Given the description of an element on the screen output the (x, y) to click on. 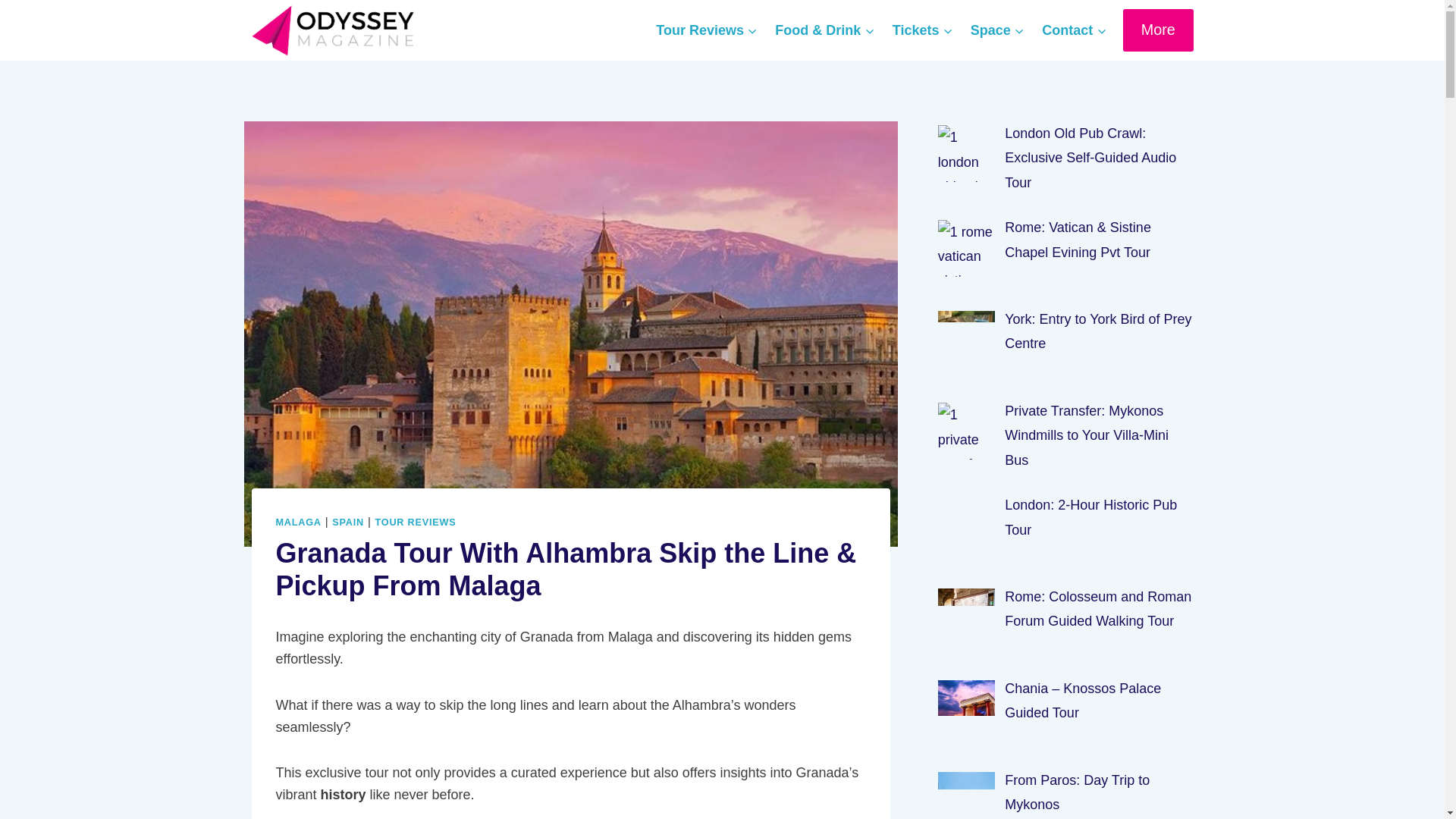
Space (996, 30)
SPAIN (347, 521)
Contact (1074, 30)
Tour Reviews (707, 30)
TOUR REVIEWS (416, 521)
Tickets (921, 30)
MALAGA (298, 521)
More (1157, 29)
